Given the description of an element on the screen output the (x, y) to click on. 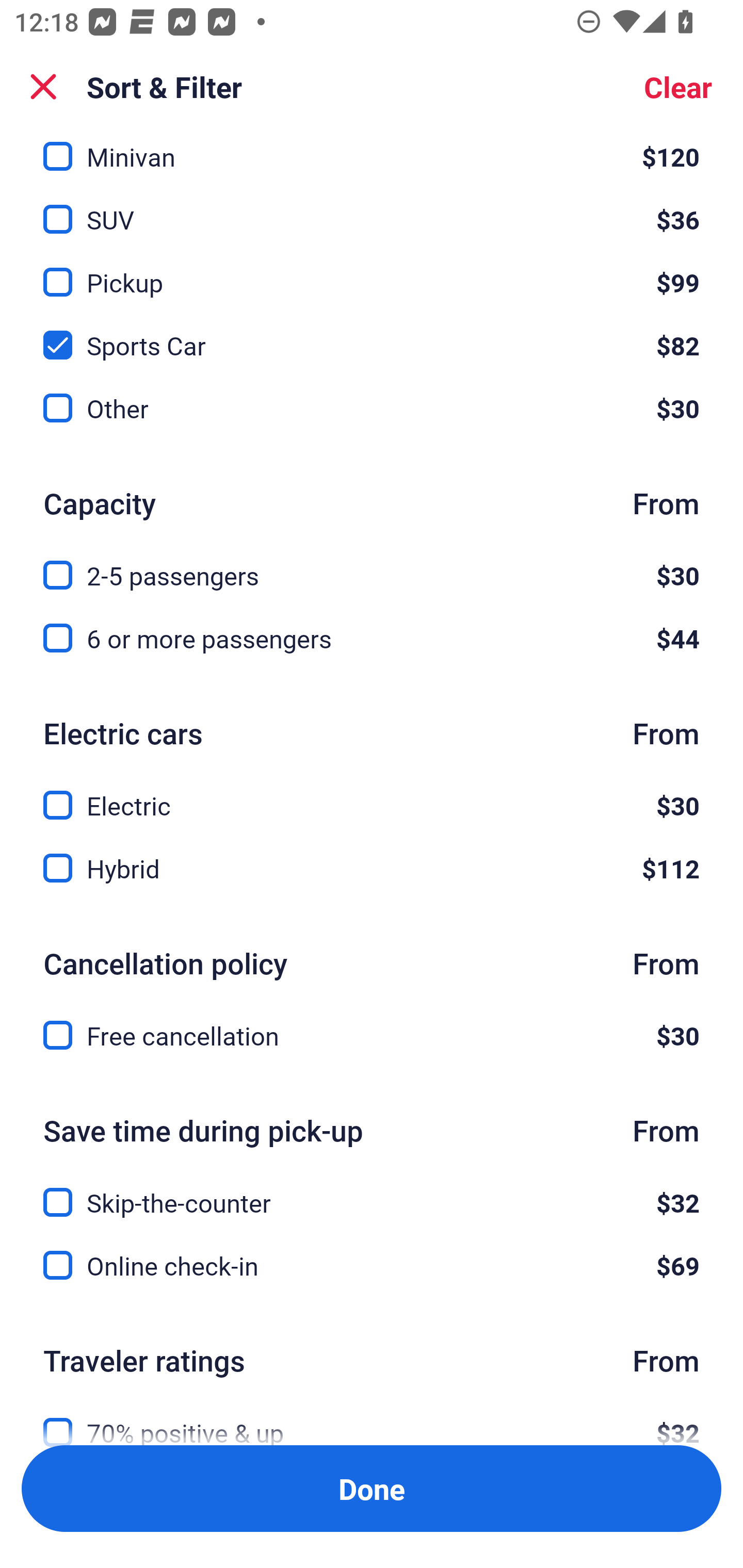
Close Sort and Filter (43, 86)
Clear (677, 86)
Minivan, $120 Minivan $120 (371, 152)
SUV, $36 SUV $36 (371, 207)
Pickup, $99 Pickup $99 (371, 270)
Sports Car, $82 Sports Car $82 (371, 333)
Other, $30 Other $30 (371, 408)
2-5 passengers, $30 2-5 passengers $30 (371, 563)
6 or more passengers, $44 6 or more passengers $44 (371, 638)
Electric, $30 Electric $30 (371, 793)
Hybrid, $112 Hybrid $112 (371, 868)
Free cancellation, $30 Free cancellation $30 (371, 1035)
Skip-the-counter, $32 Skip-the-counter $32 (371, 1190)
Online check-in, $69 Online check-in $69 (371, 1266)
70% positive & up, $32 70% positive & up $32 (371, 1417)
Apply and close Sort and Filter Done (371, 1488)
